Given the description of an element on the screen output the (x, y) to click on. 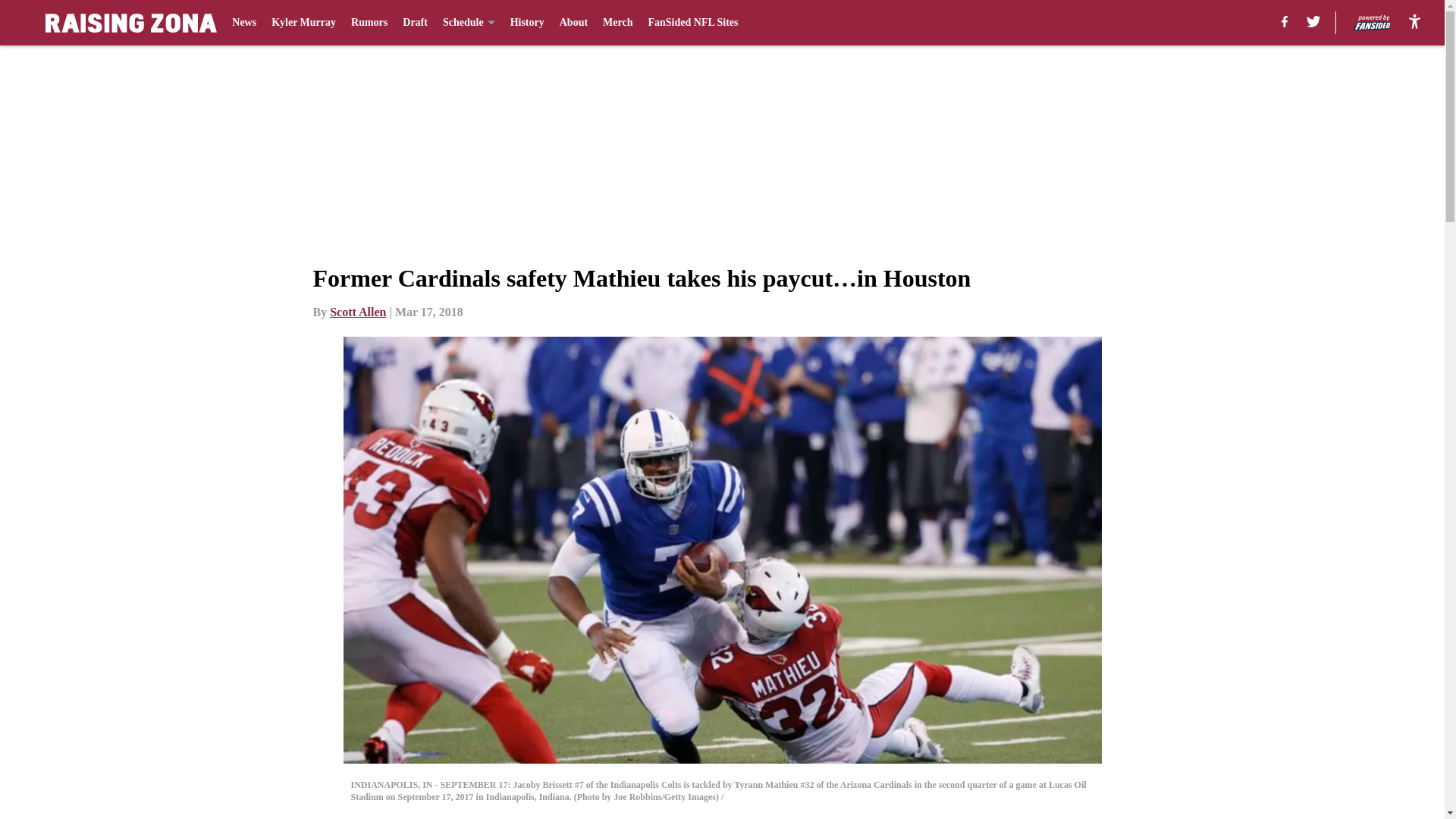
Kyler Murray (303, 22)
Merch (616, 22)
Scott Allen (357, 311)
History (527, 22)
FanSided NFL Sites (692, 22)
Rumors (368, 22)
About (573, 22)
News (243, 22)
Draft (415, 22)
